Given the description of an element on the screen output the (x, y) to click on. 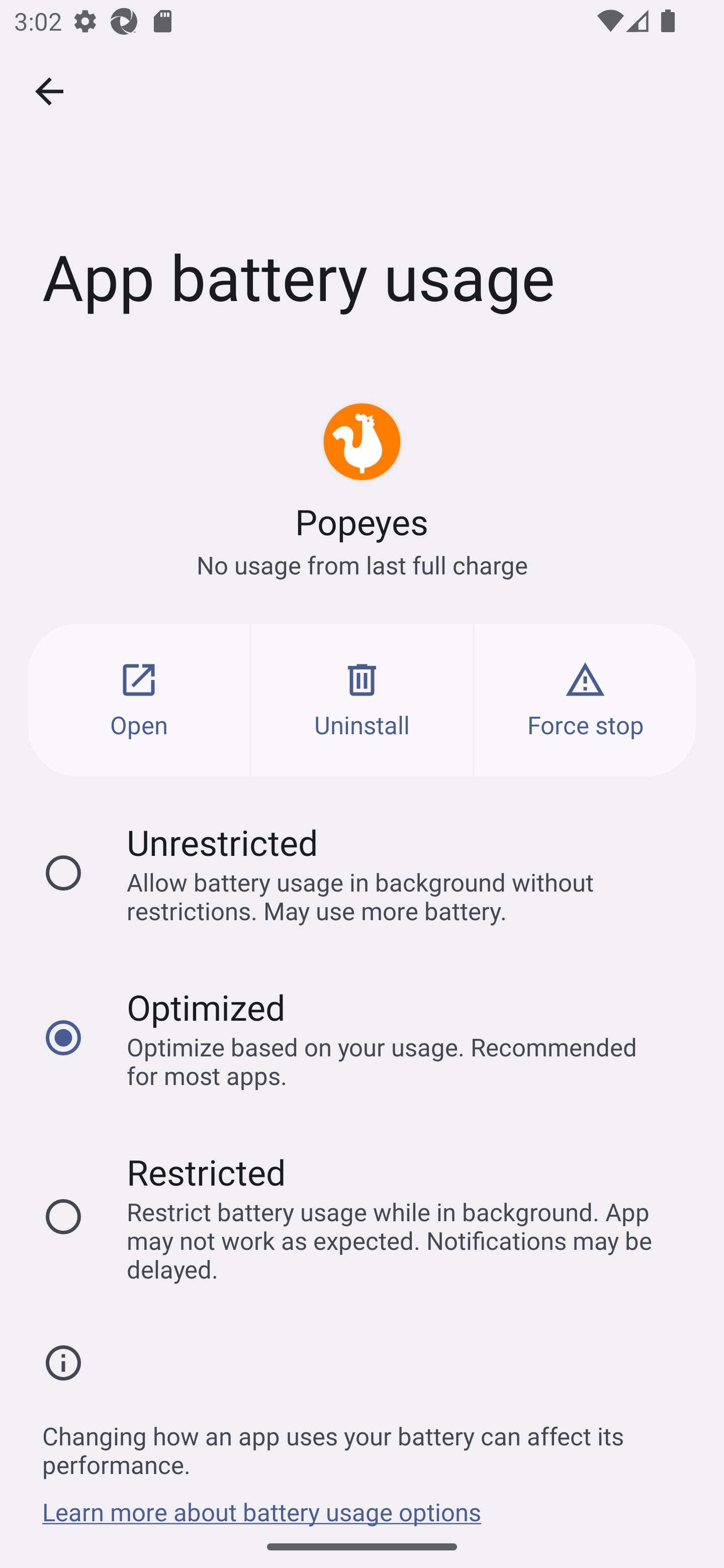
Navigate up (49, 91)
Open (138, 700)
Uninstall (361, 700)
Force stop (584, 700)
